Given the description of an element on the screen output the (x, y) to click on. 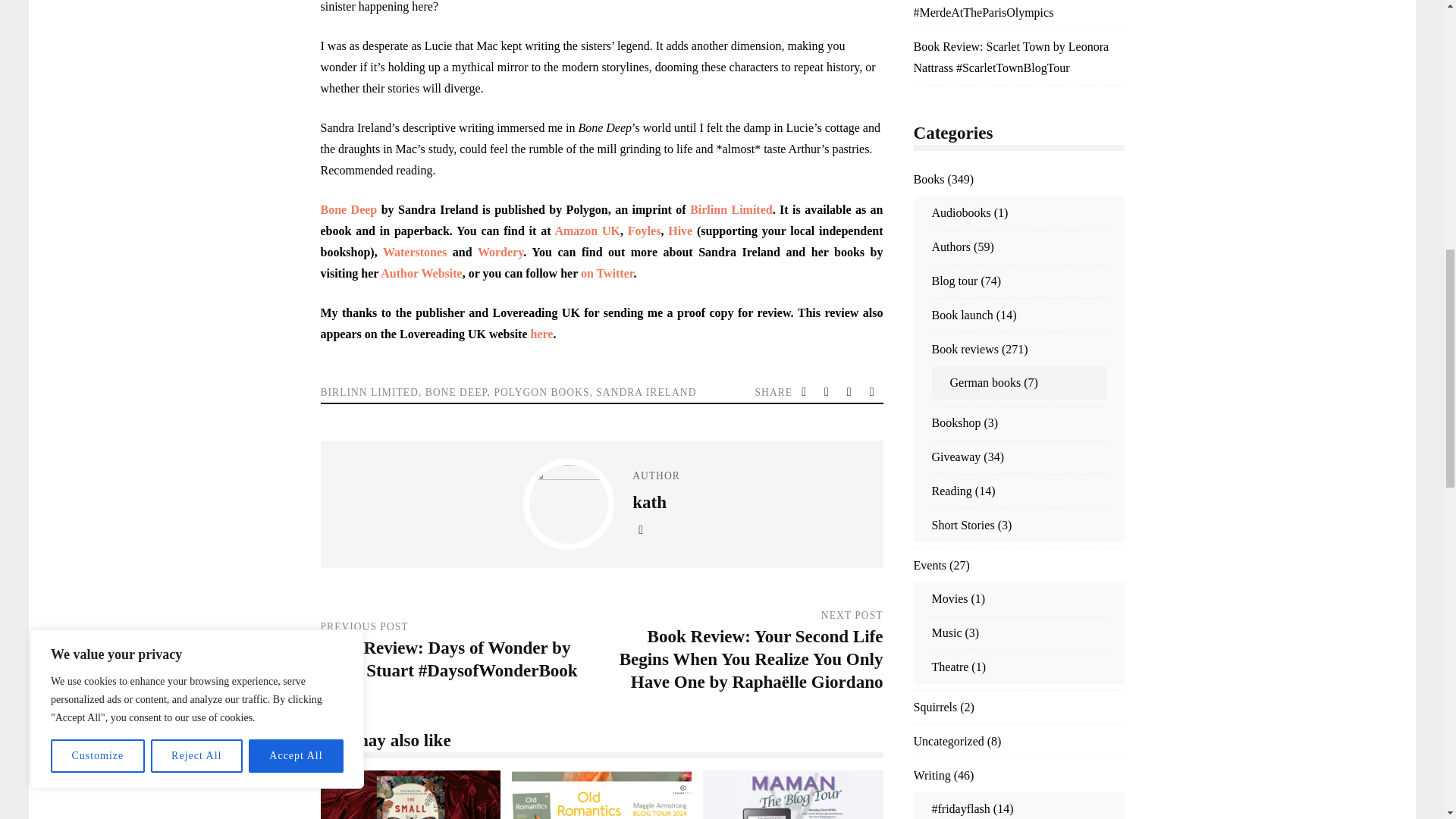
Waterstones (414, 251)
Share on Facebook (828, 391)
Tweet This! (804, 391)
POLYGON BOOKS (541, 392)
Posts by kath (648, 501)
on Twitter (606, 273)
Author Website (420, 273)
Foyles (644, 230)
Bone Deep (348, 209)
BONE DEEP (456, 392)
Amazon UK (587, 230)
here (542, 333)
Hive (680, 230)
Pin this! (873, 391)
Birlinn Limited (731, 209)
